Given the description of an element on the screen output the (x, y) to click on. 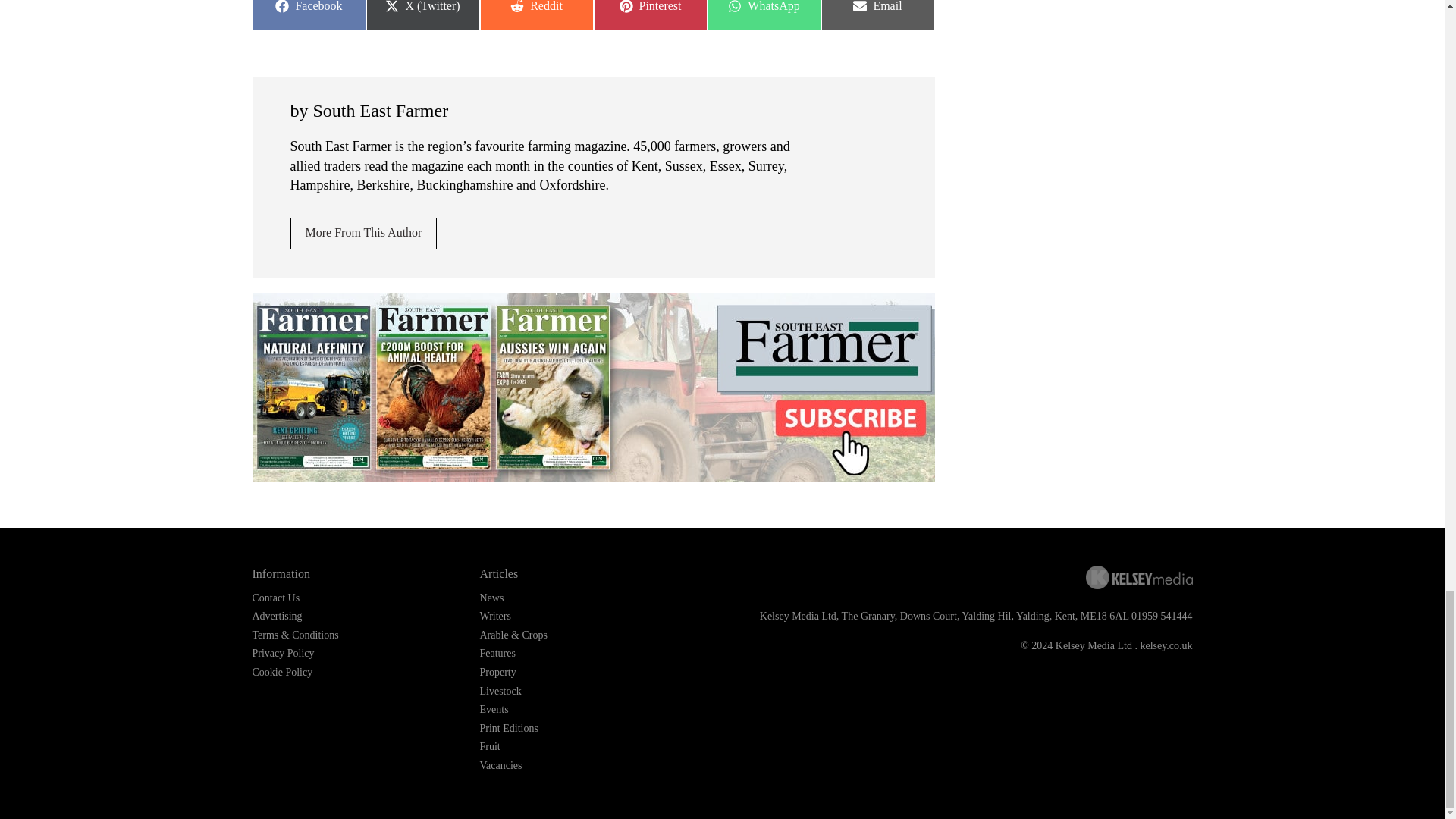
Contact Us (763, 15)
More From This Author (275, 597)
